Given the description of an element on the screen output the (x, y) to click on. 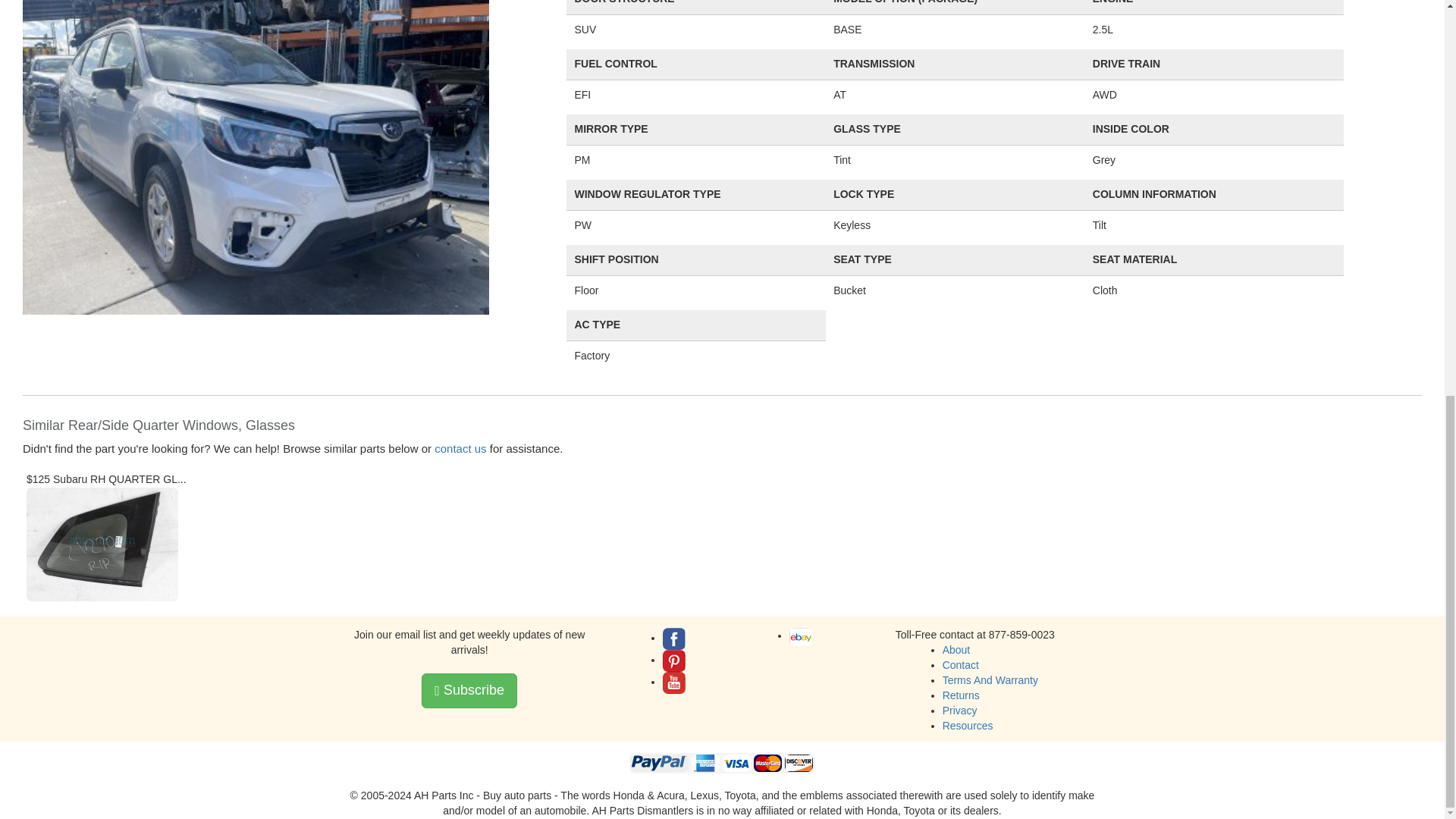
AH Parts - Facebook (673, 639)
AH Parts - YouTube (673, 682)
AH Parts - Pinterest (673, 660)
2021 Subaru Forester Replacement Parts (256, 138)
Accepted payment types (721, 762)
AH Parts - Ebay (800, 637)
